Given the description of an element on the screen output the (x, y) to click on. 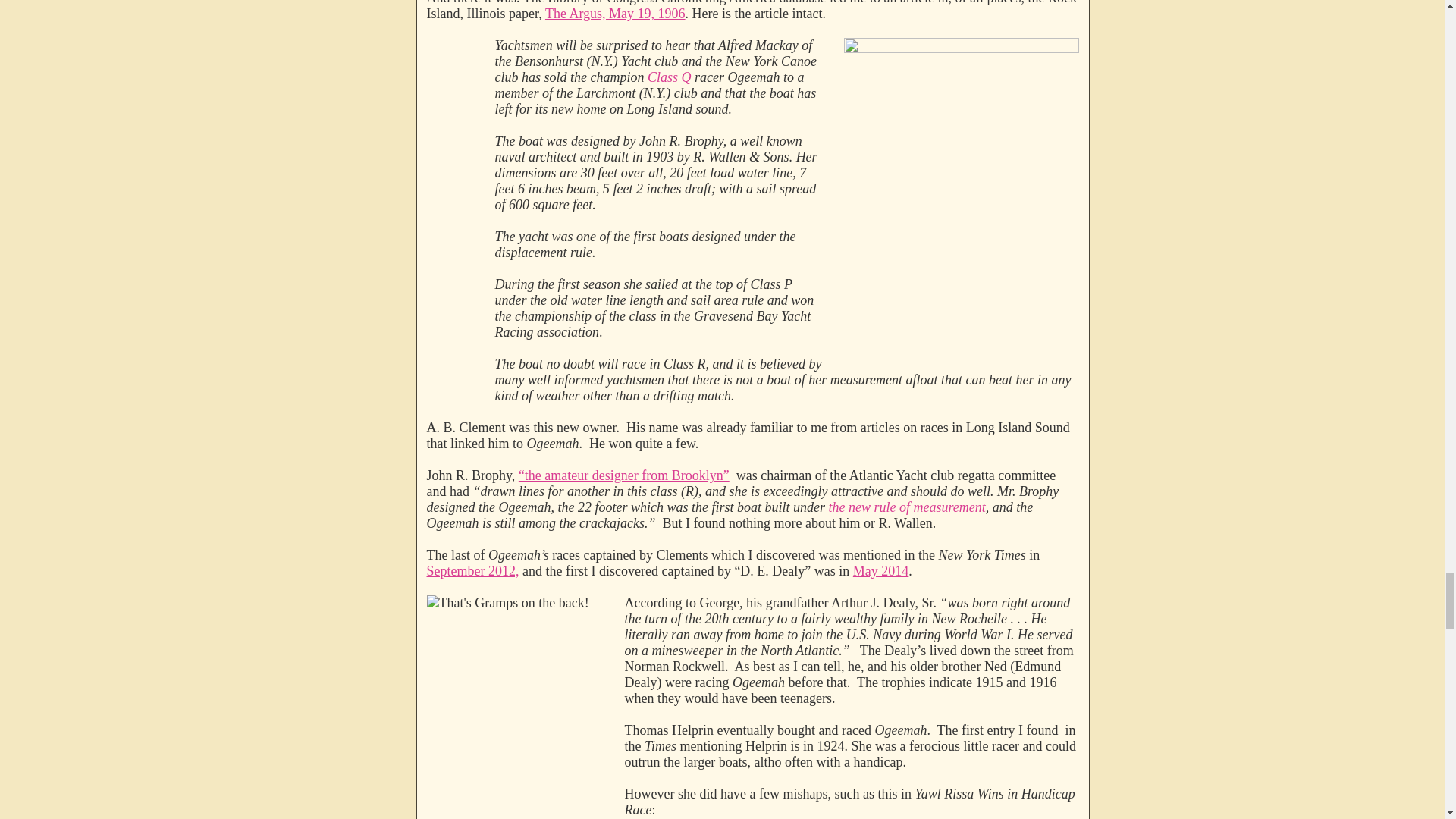
Class Q (670, 77)
The Argus, May 19, 1906 (614, 13)
the new rule of measurement (906, 507)
September 2012, (472, 570)
May 2014 (880, 570)
